Given the description of an element on the screen output the (x, y) to click on. 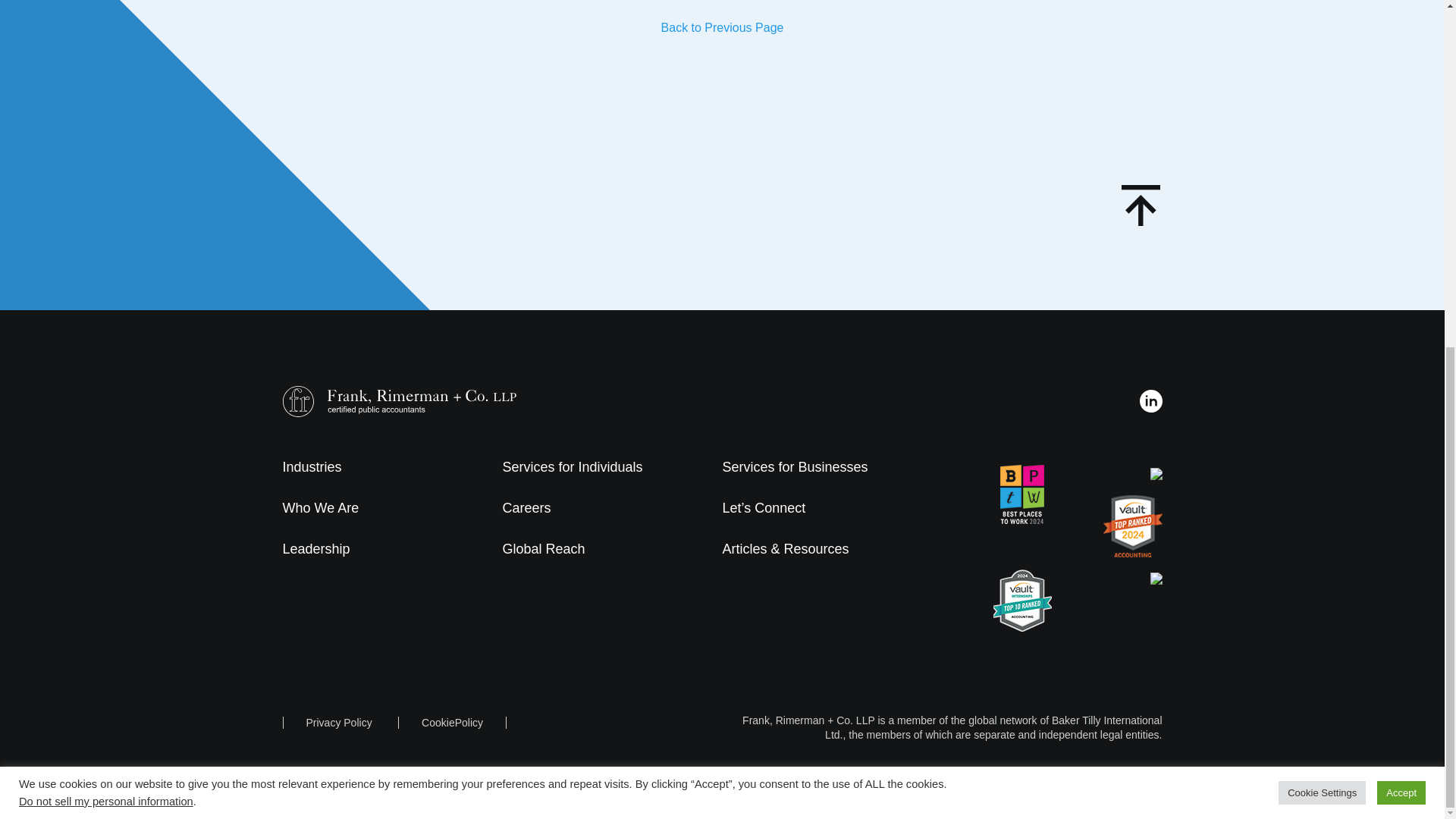
Services for Individuals (572, 467)
Accept (1401, 196)
CookiePolicy (452, 722)
Careers (526, 507)
Services for Businesses (794, 467)
Privacy Policy (338, 722)
Cookie Settings (1321, 196)
Do not sell my personal information (105, 204)
Who We Are (320, 507)
Industries (311, 467)
